Given the description of an element on the screen output the (x, y) to click on. 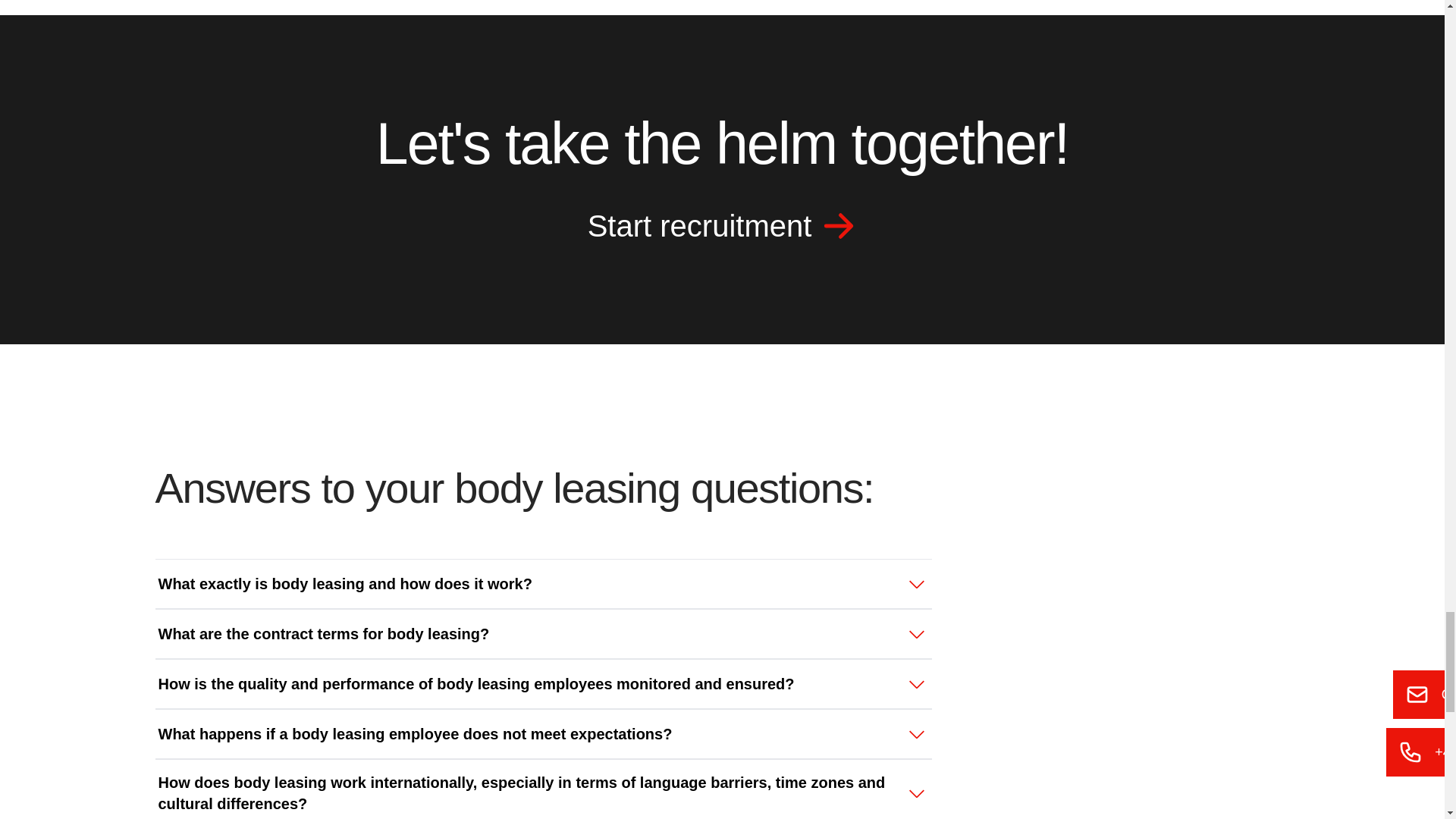
Start recruitment (722, 232)
Contact Dewave (722, 232)
What exactly is body leasing and how does it work? (542, 583)
What are the contract terms for body leasing? (542, 633)
